Given the description of an element on the screen output the (x, y) to click on. 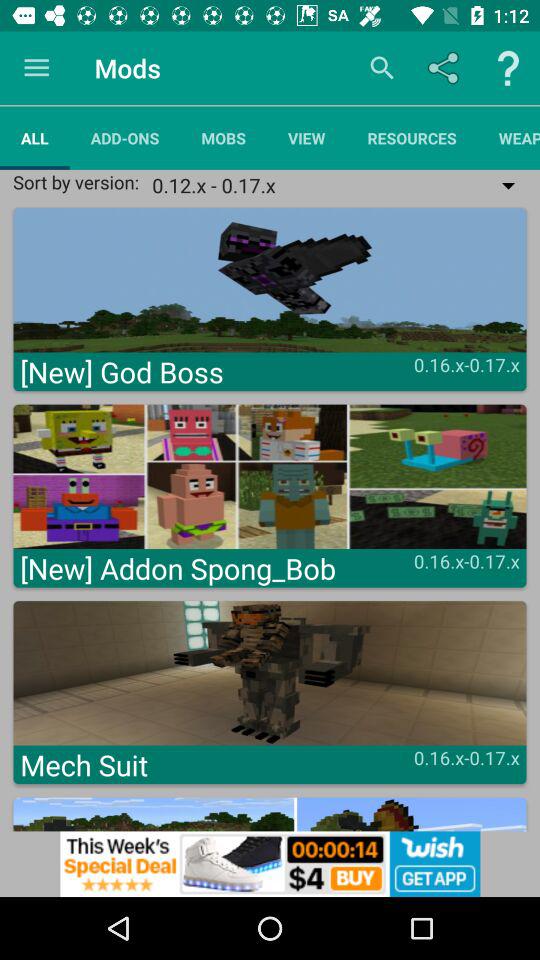
details button (508, 67)
